Given the description of an element on the screen output the (x, y) to click on. 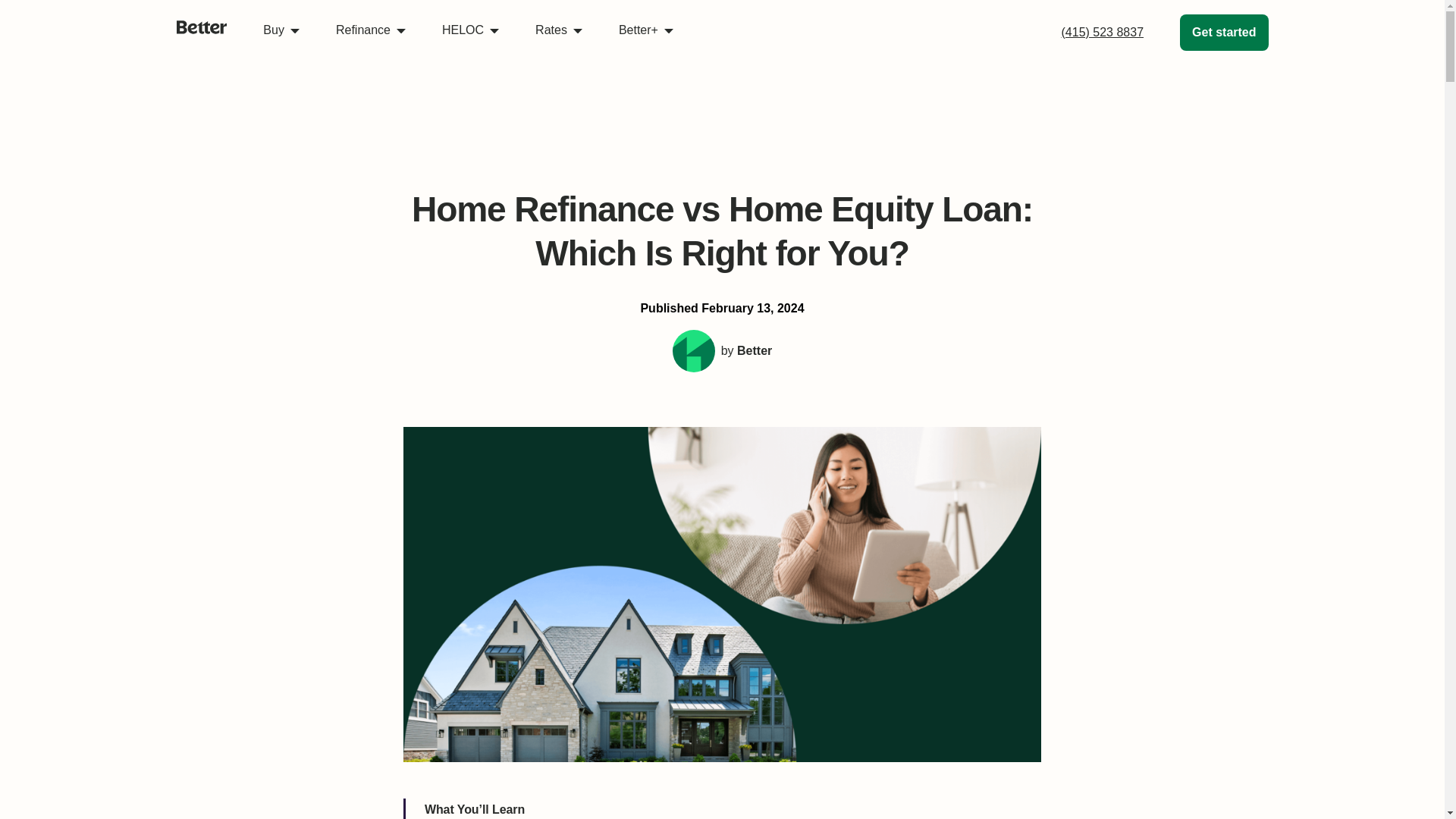
Better (201, 47)
Refinance (371, 30)
Get started (1223, 31)
HELOC (470, 30)
Better (201, 27)
Rates (558, 30)
Buy (281, 30)
